Given the description of an element on the screen output the (x, y) to click on. 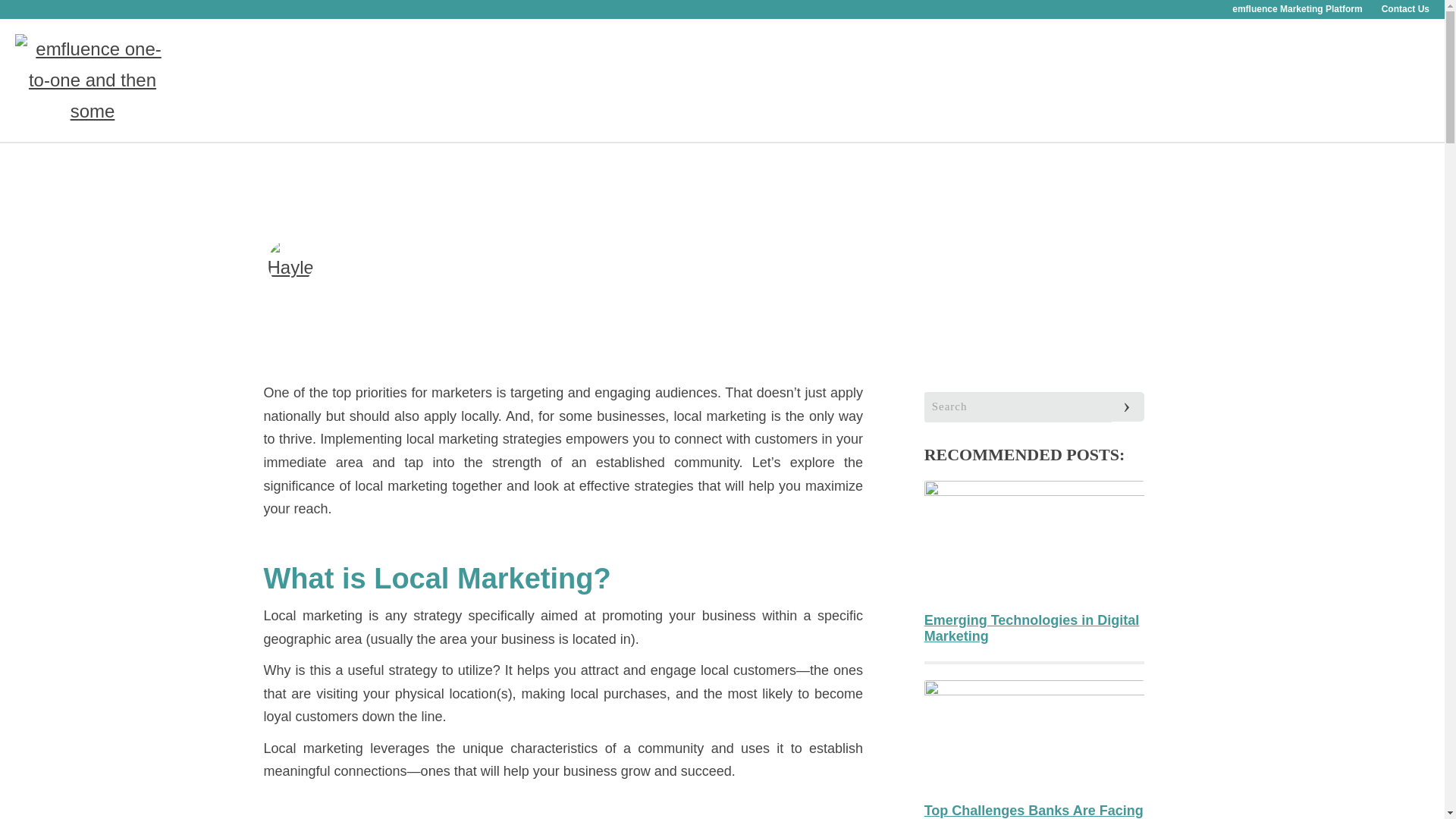
Contact Us (1405, 9)
emfluence Marketing Platform (1296, 9)
